Given the description of an element on the screen output the (x, y) to click on. 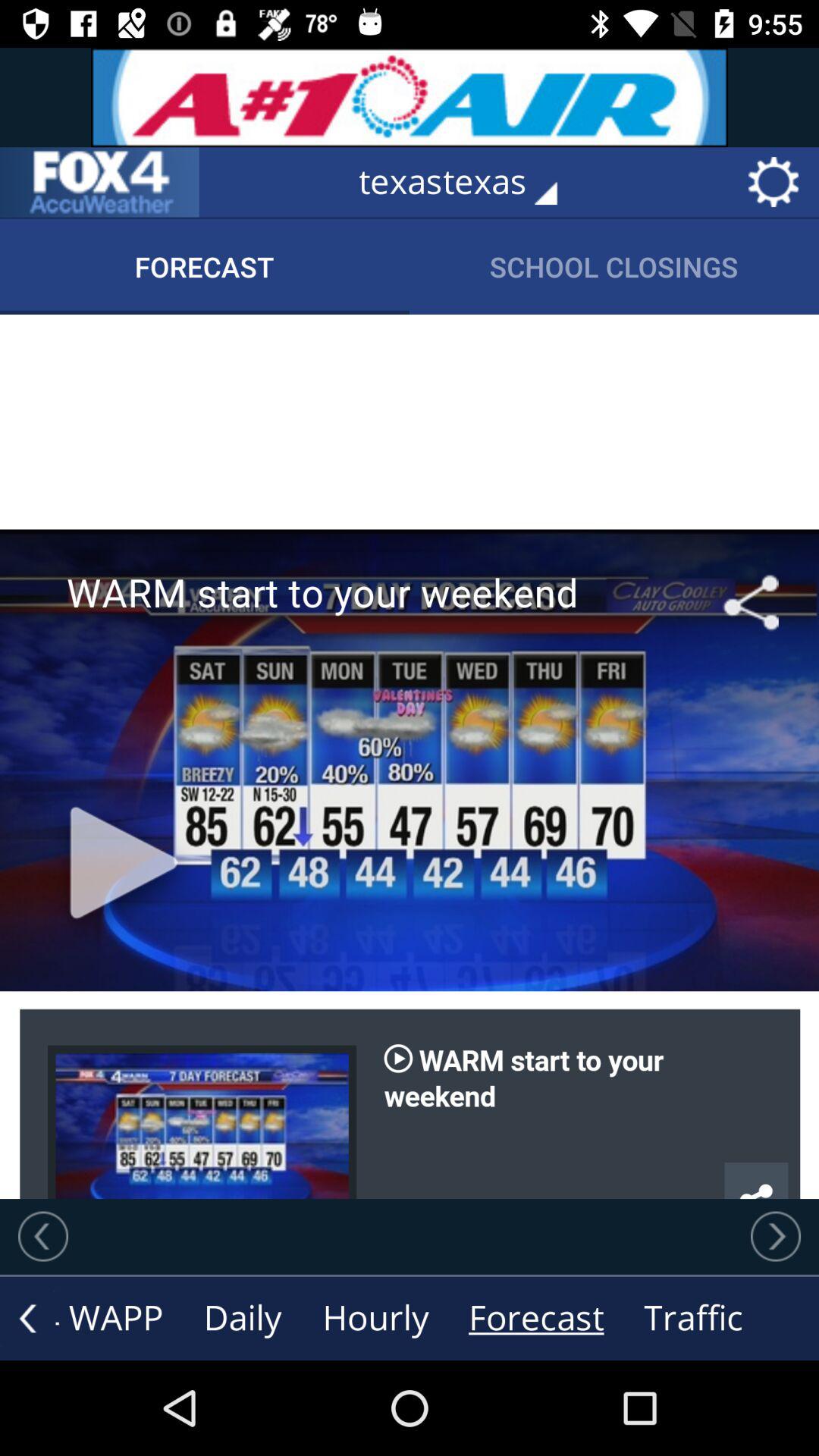
tap the item next to texastexas item (99, 182)
